Given the description of an element on the screen output the (x, y) to click on. 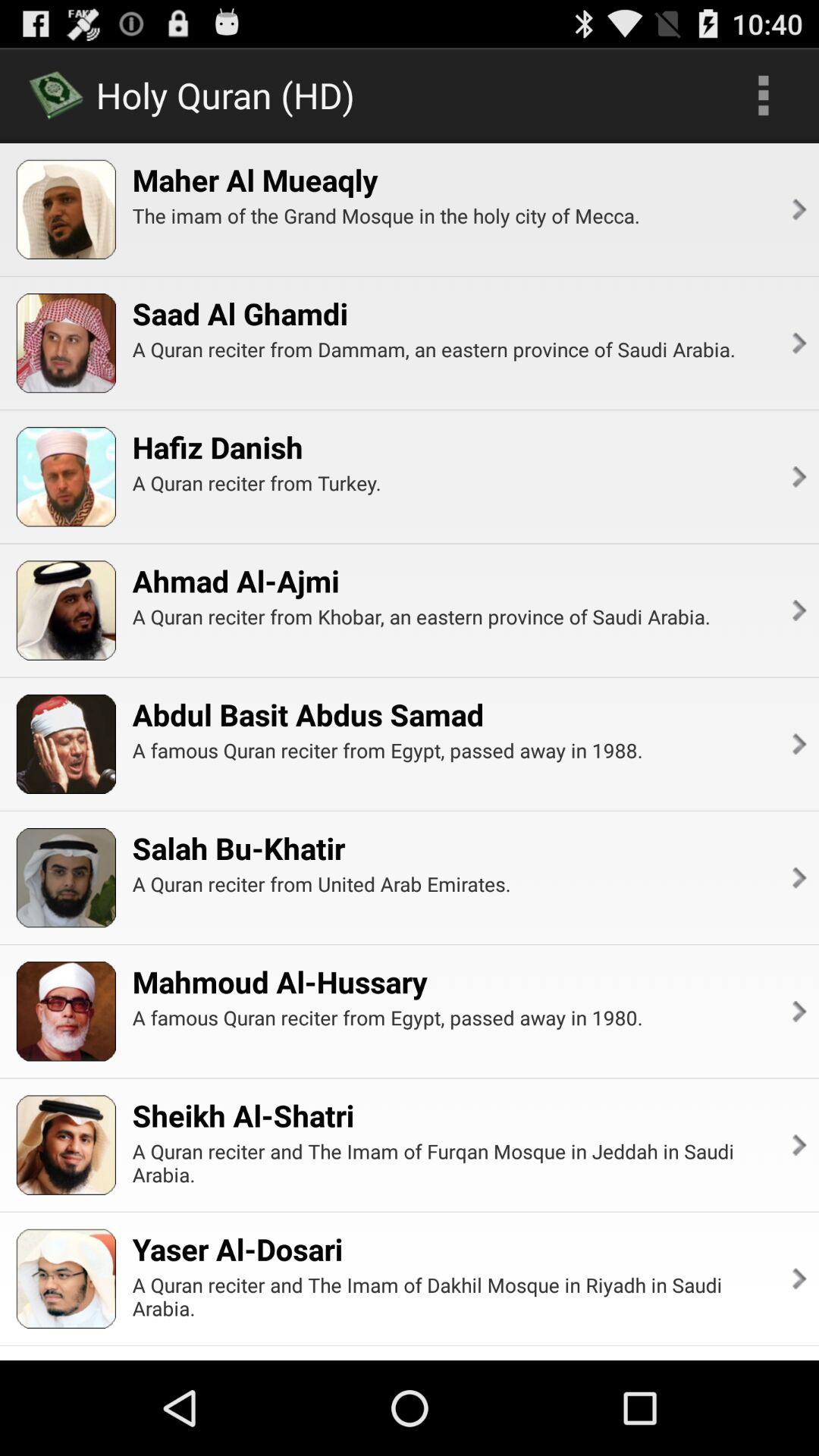
turn off icon next to the a quran reciter icon (797, 1278)
